Given the description of an element on the screen output the (x, y) to click on. 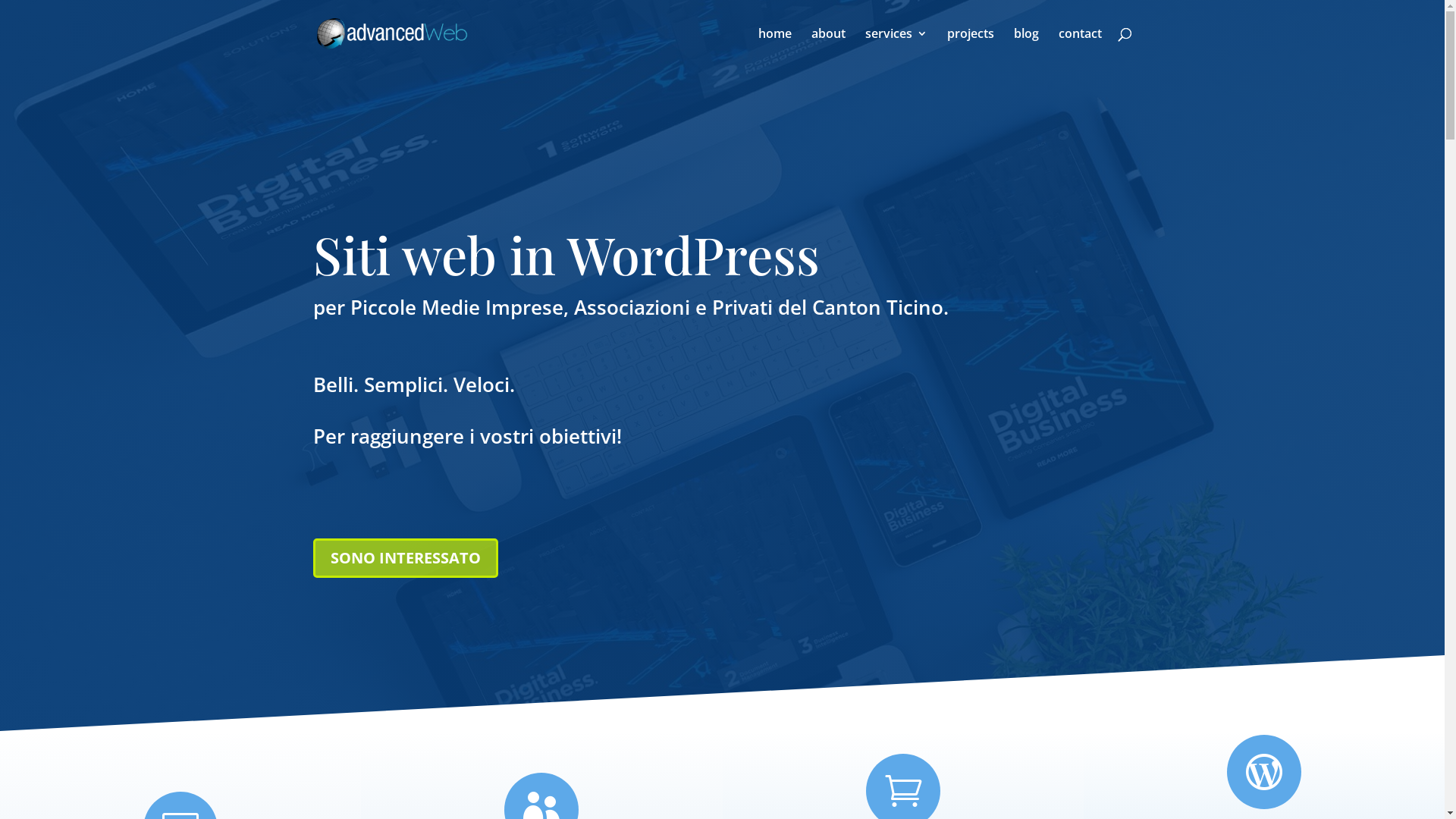
services Element type: text (895, 47)
contact Element type: text (1079, 47)
home Element type: text (774, 47)
SONO INTERESSATO Element type: text (404, 557)
projects Element type: text (969, 47)
blog Element type: text (1025, 47)
about Element type: text (828, 47)
